Given the description of an element on the screen output the (x, y) to click on. 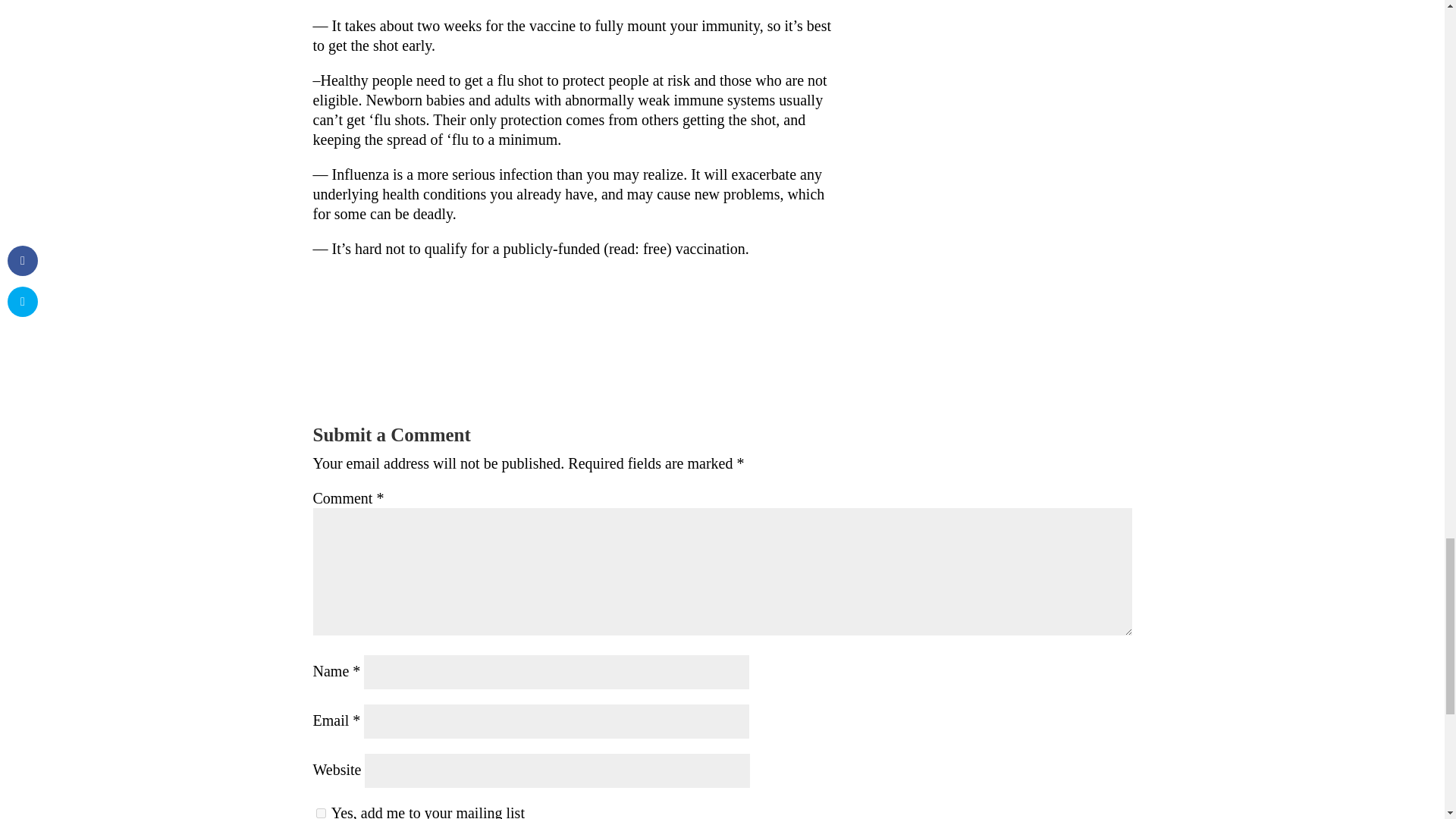
1 (319, 813)
